Given the description of an element on the screen output the (x, y) to click on. 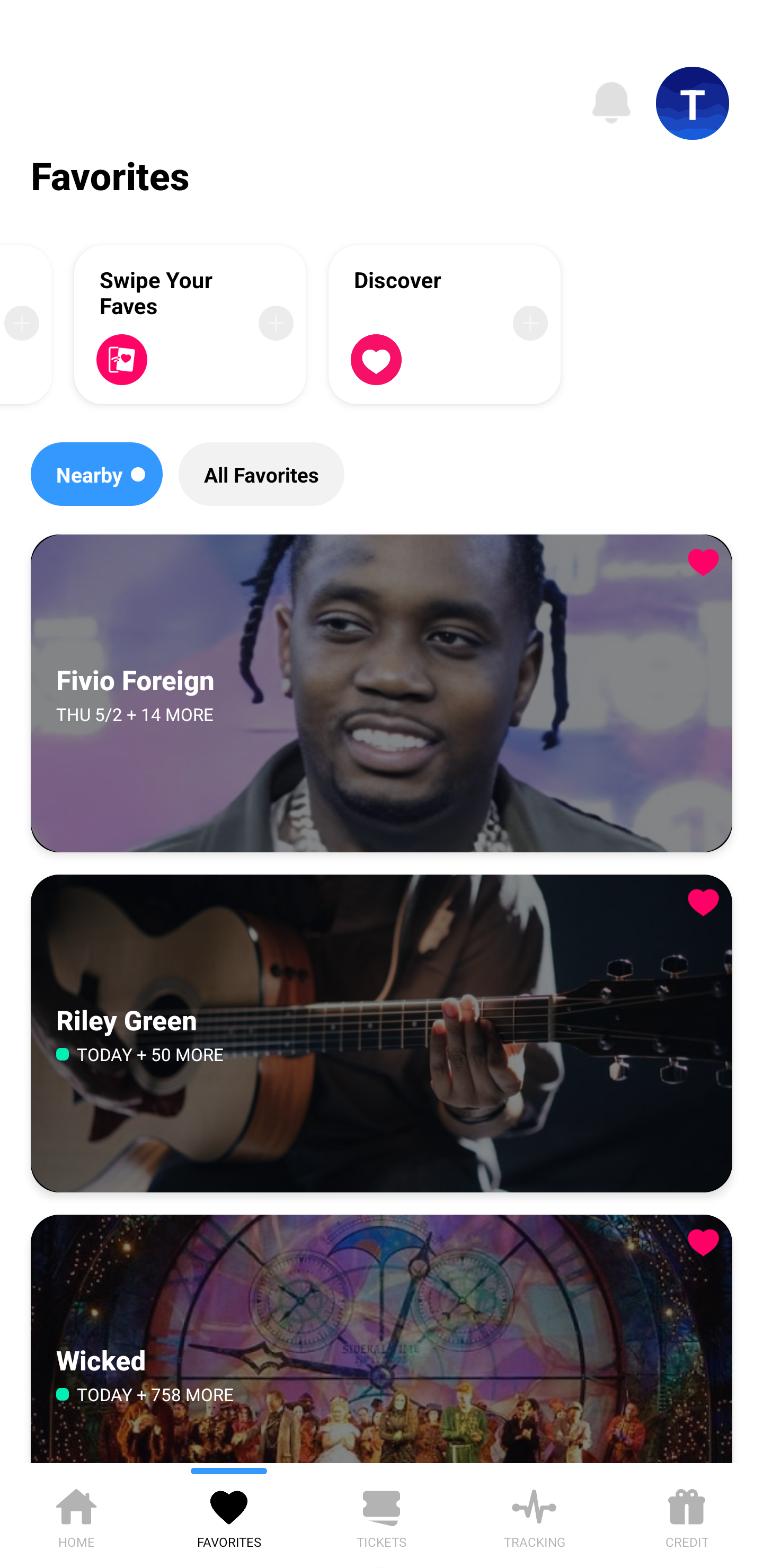
T (692, 103)
Swipe Your  Faves (189, 324)
Discover (444, 324)
Nearby (96, 474)
All Favorites (261, 474)
Wicked, TODAY + 758 MORE  Wicked TODAY + 758 MORE  (381, 1338)
HOME (76, 1515)
FAVORITES (228, 1515)
TICKETS (381, 1515)
TRACKING (533, 1515)
CREDIT (686, 1515)
